Given the description of an element on the screen output the (x, y) to click on. 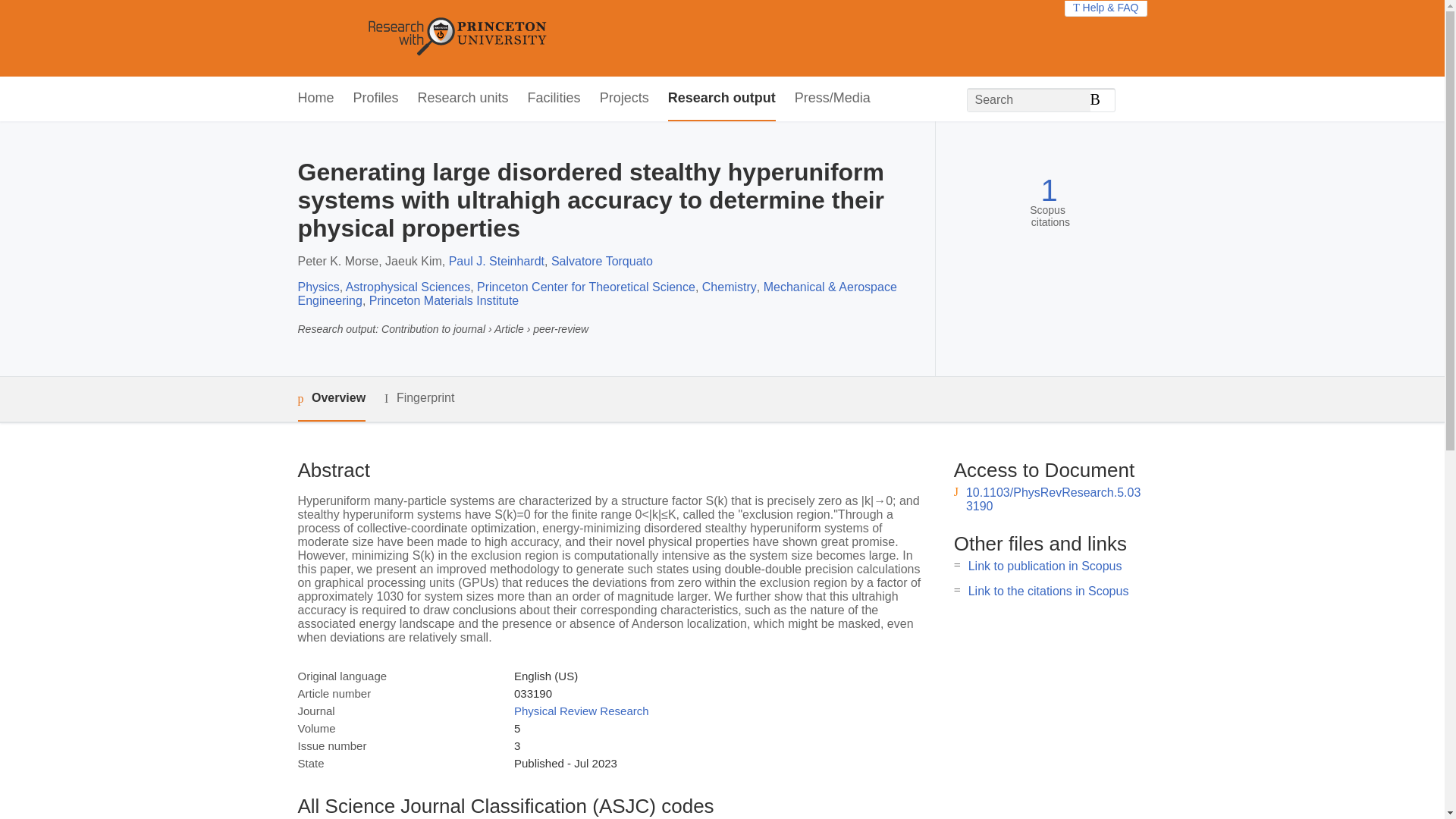
Astrophysical Sciences (408, 286)
Physical Review Research (581, 710)
Research units (462, 98)
Princeton Materials Institute (443, 300)
Chemistry (729, 286)
Princeton Center for Theoretical Science (586, 286)
Salvatore Torquato (601, 260)
Overview (331, 398)
Profiles (375, 98)
